Given the description of an element on the screen output the (x, y) to click on. 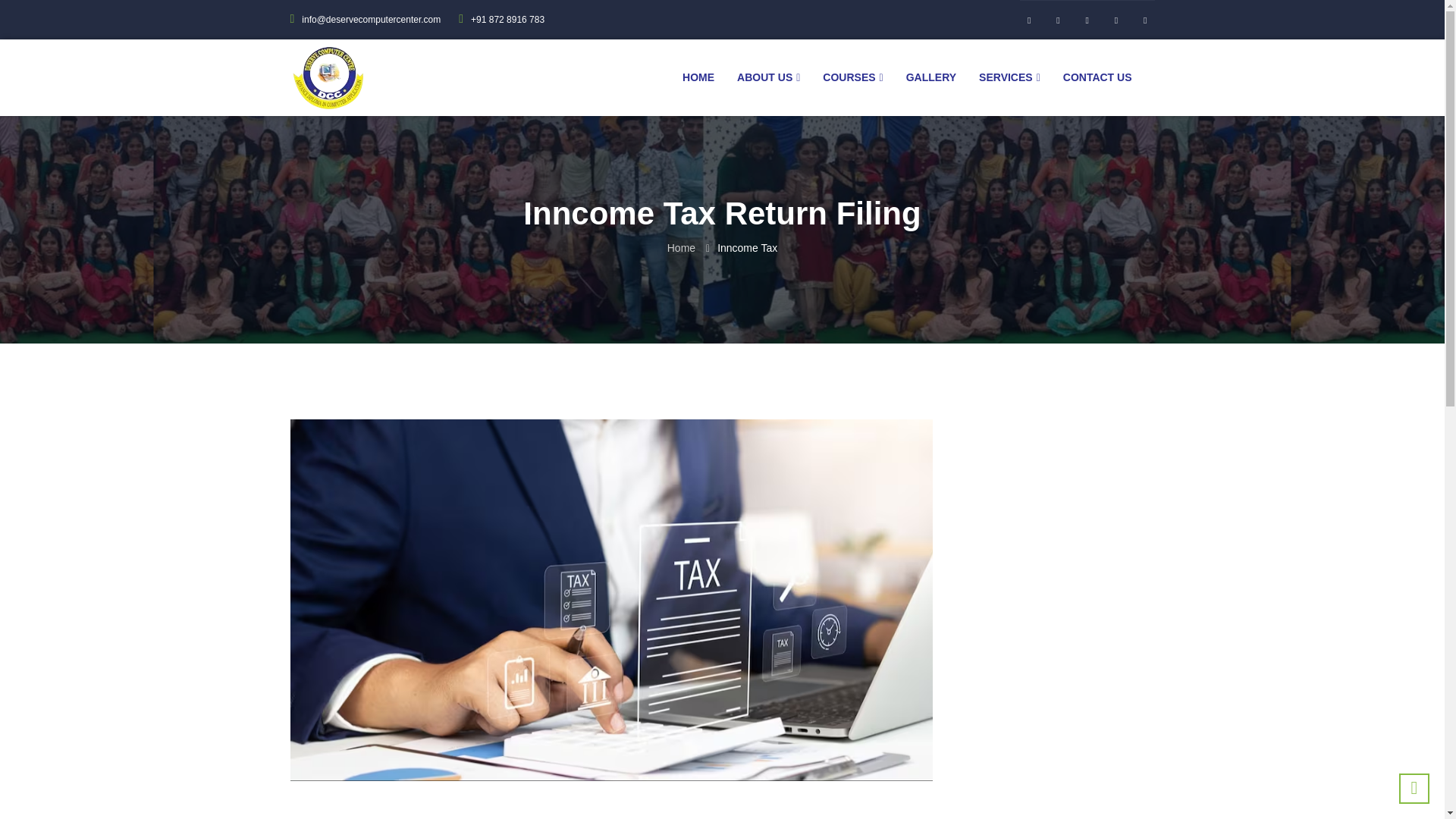
CONTACT US (1097, 77)
Home (680, 247)
